Given the description of an element on the screen output the (x, y) to click on. 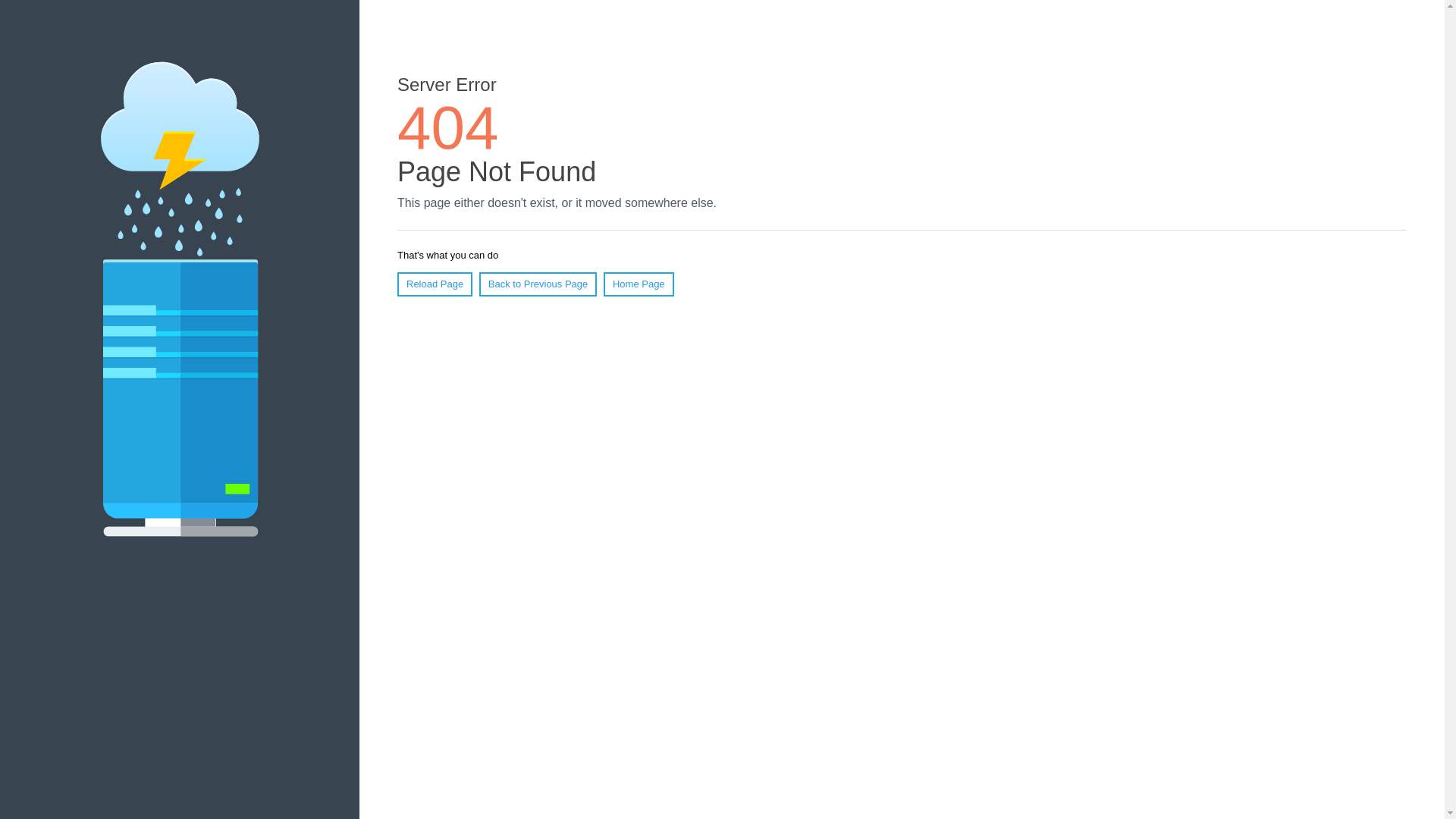
Back to Previous Page Element type: text (538, 284)
Home Page Element type: text (638, 284)
Reload Page Element type: text (434, 284)
